Given the description of an element on the screen output the (x, y) to click on. 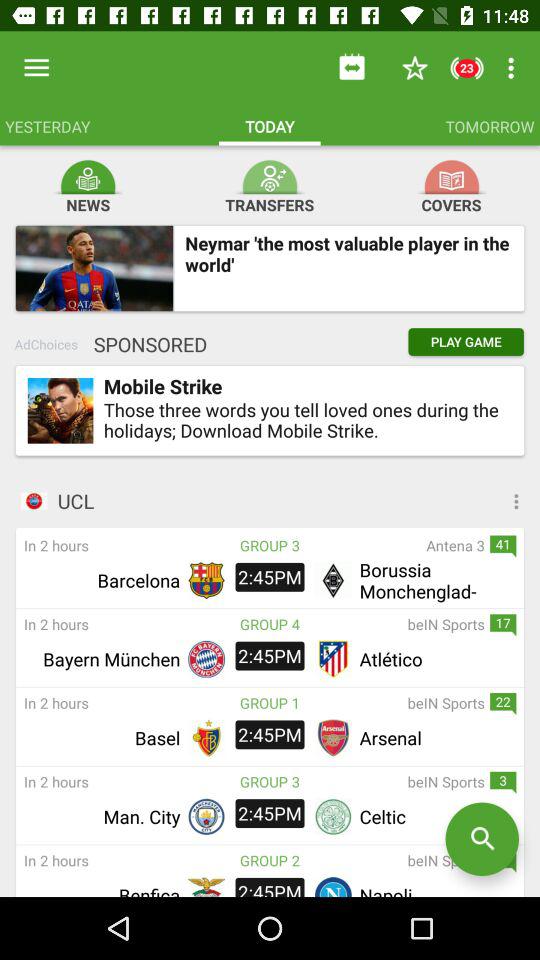
select item to the left of mobile strike item (60, 410)
